Given the description of an element on the screen output the (x, y) to click on. 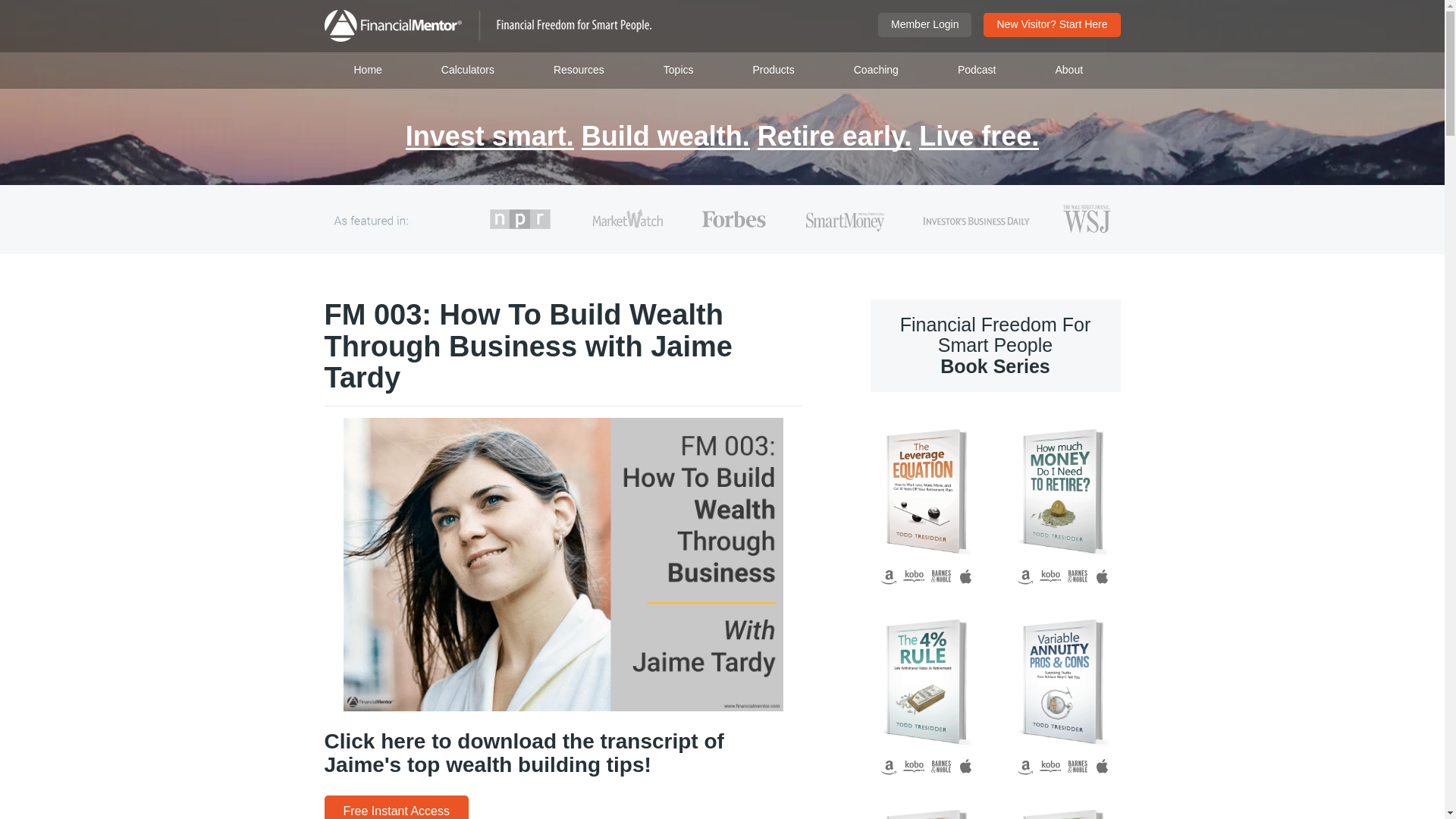
Resources (578, 70)
Home (368, 70)
Calculators (468, 70)
Member Login (924, 24)
Build wealth. (664, 137)
Coaching (876, 70)
About (1068, 70)
Podcast (977, 70)
Live free. (978, 137)
Invest smart. (489, 137)
